Given the description of an element on the screen output the (x, y) to click on. 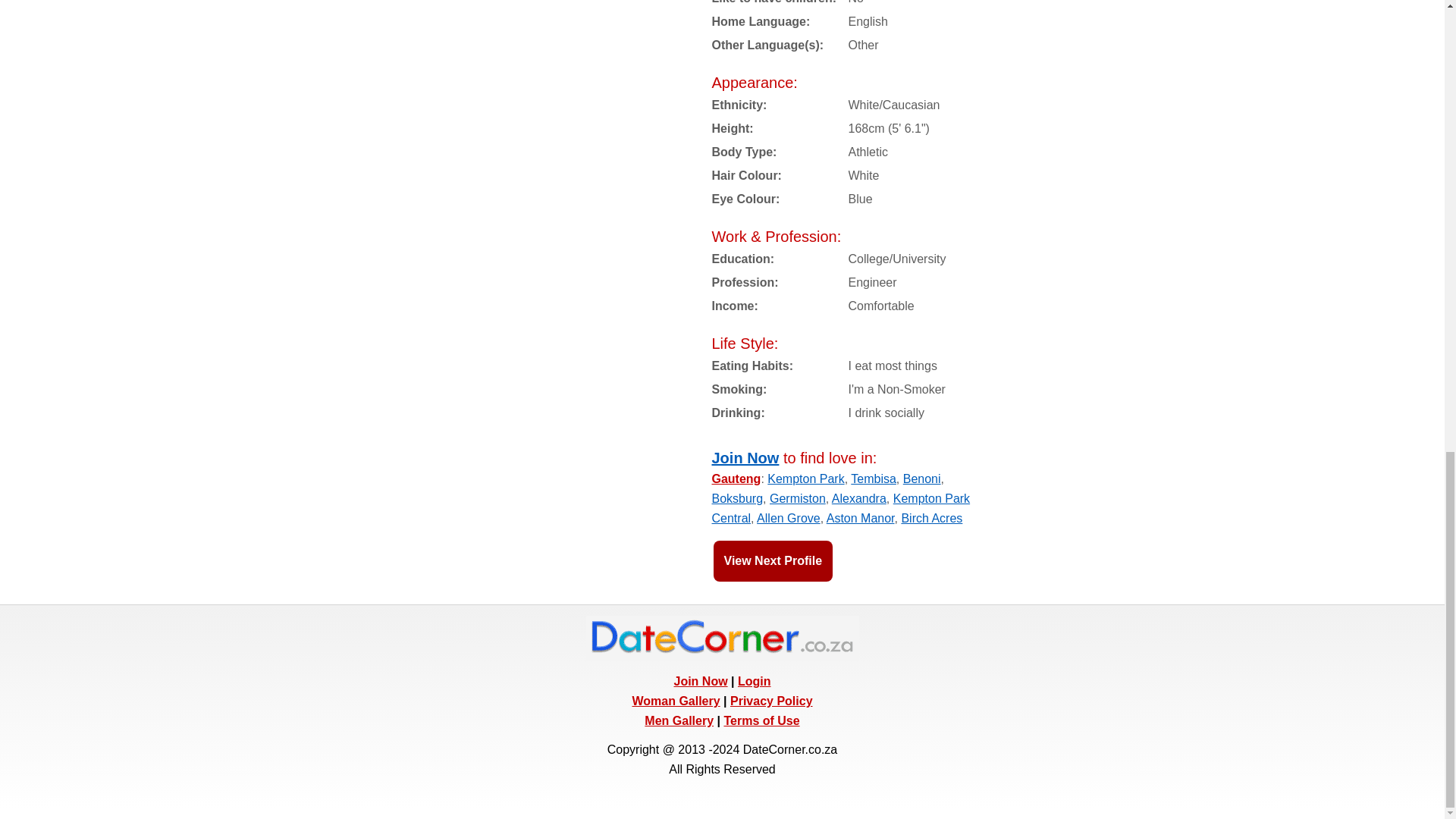
Tembisa (873, 478)
Men Gallery (679, 720)
Aston Manor (861, 517)
Alexandra (858, 498)
Benoni (921, 478)
Login (754, 680)
Join Now (744, 457)
Terms of Use (761, 720)
Gauteng (735, 478)
View Next Profile (772, 560)
